Given the description of an element on the screen output the (x, y) to click on. 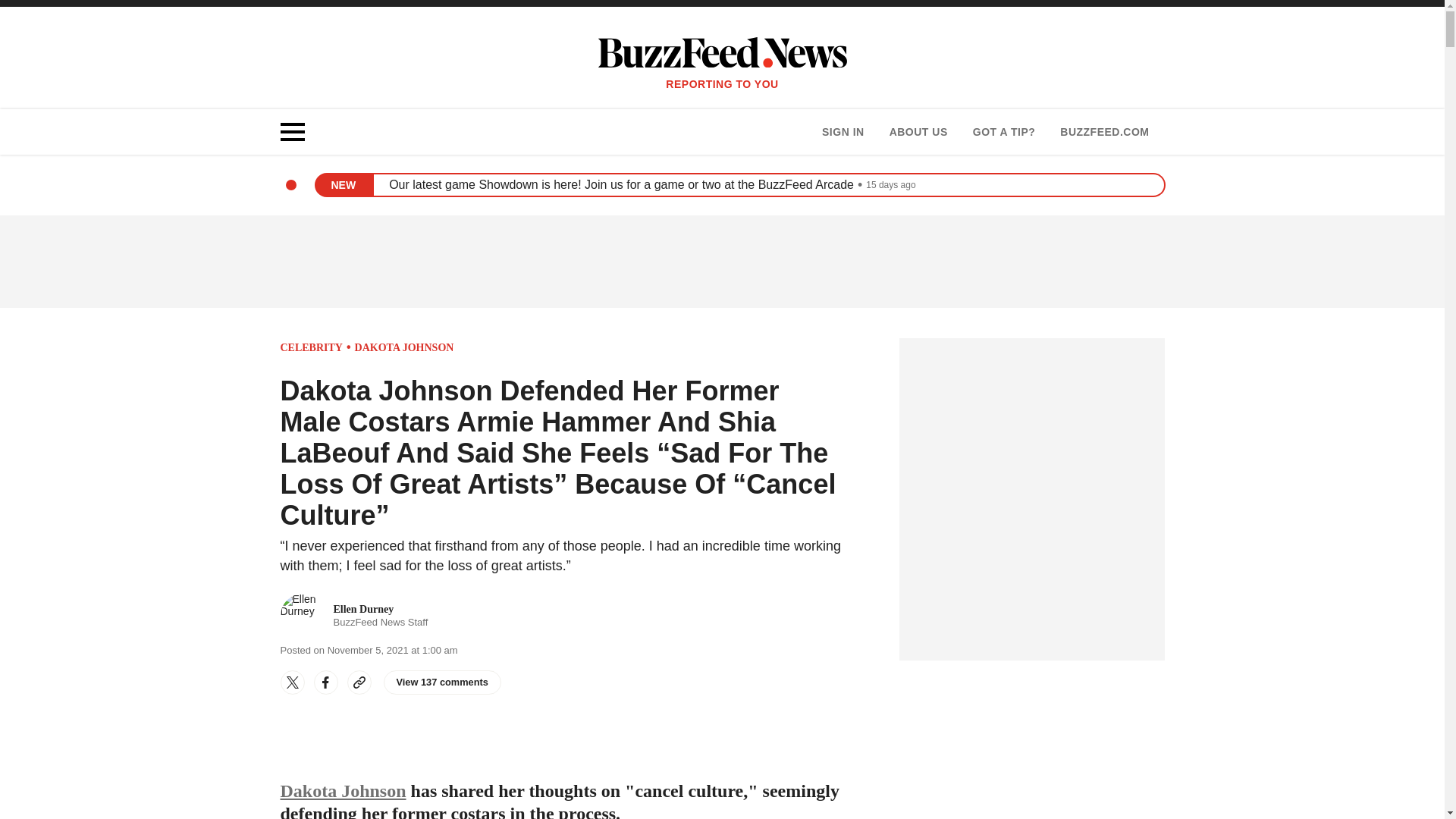
Dakota Johnson (343, 790)
View 137 comments (442, 682)
GOT A TIP? (354, 615)
BUZZFEED.COM (1003, 131)
CELEBRITY (1103, 131)
SIGN IN (311, 347)
DAKOTA JOHNSON (842, 131)
ABOUT US (404, 347)
